Given the description of an element on the screen output the (x, y) to click on. 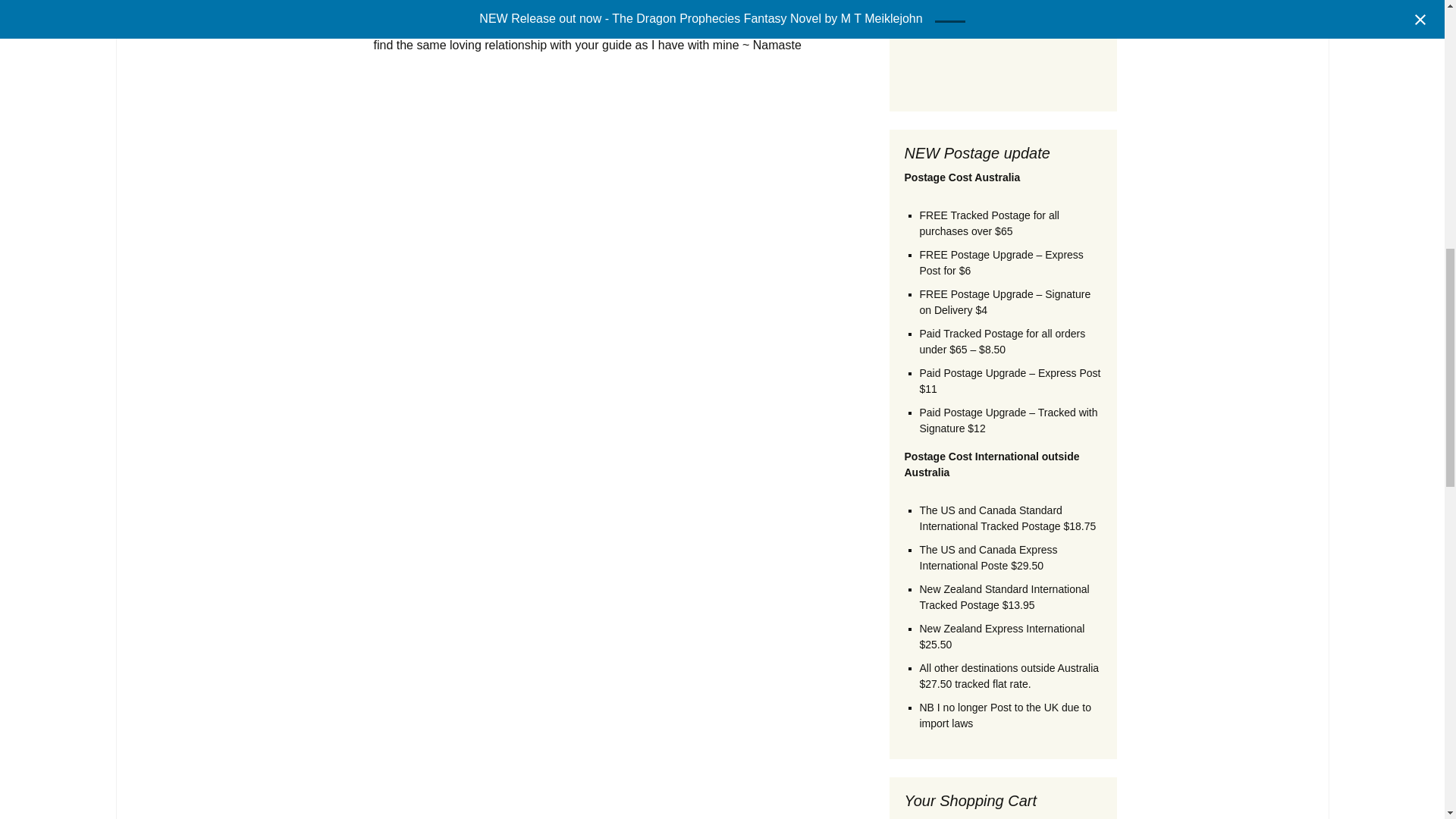
Joyous Art  (807, 8)
